Given the description of an element on the screen output the (x, y) to click on. 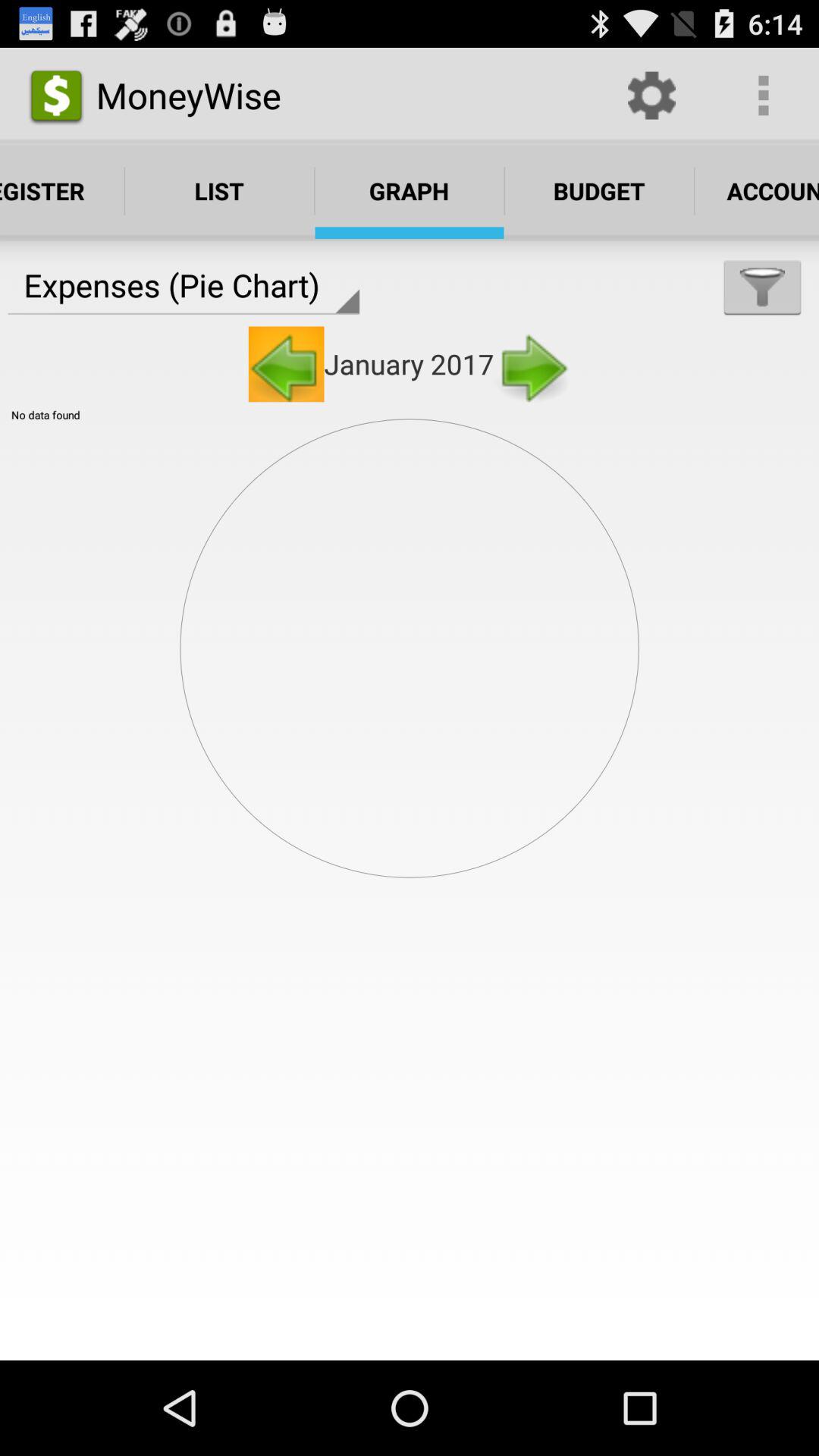
select filter (762, 286)
click on tab graph at top (409, 190)
icon before moneywise heading of the page (55, 95)
select the right arrow  next to january 2017 (532, 363)
click on the settings icon above budget (651, 95)
select the text which is to the right side of the graph (599, 190)
